Given the description of an element on the screen output the (x, y) to click on. 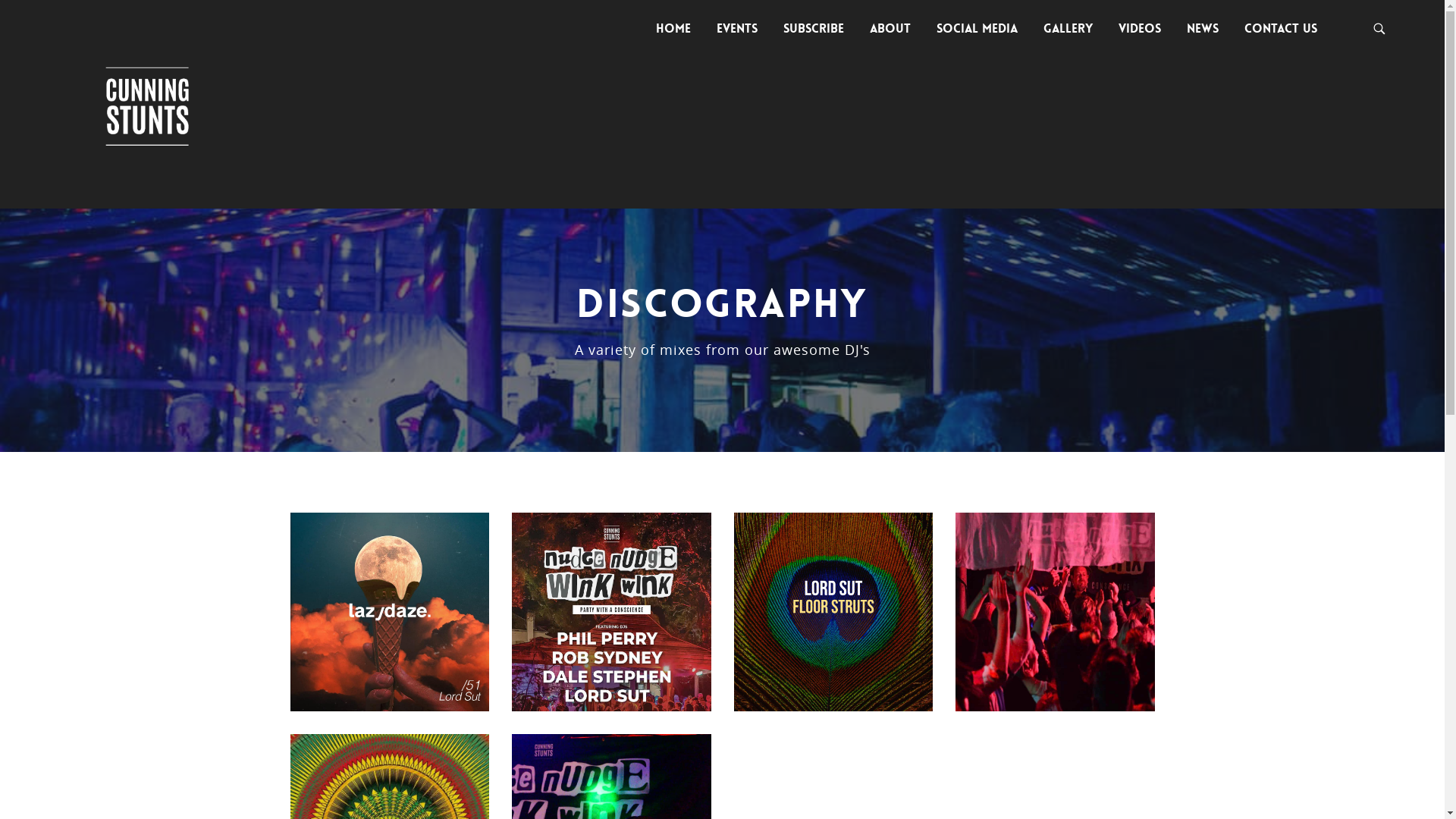
NEWS Element type: text (1202, 28)
VIDEOS Element type: text (1139, 28)
CONTACT US Element type: text (1280, 28)
HOME Element type: text (673, 28)
ABOUT Element type: text (890, 28)
SOCIAL MEDIA Element type: text (977, 28)
SUBSCRIBE Element type: text (813, 28)
GALLERY Element type: text (1068, 28)
EVENTS Element type: text (736, 28)
